Given the description of an element on the screen output the (x, y) to click on. 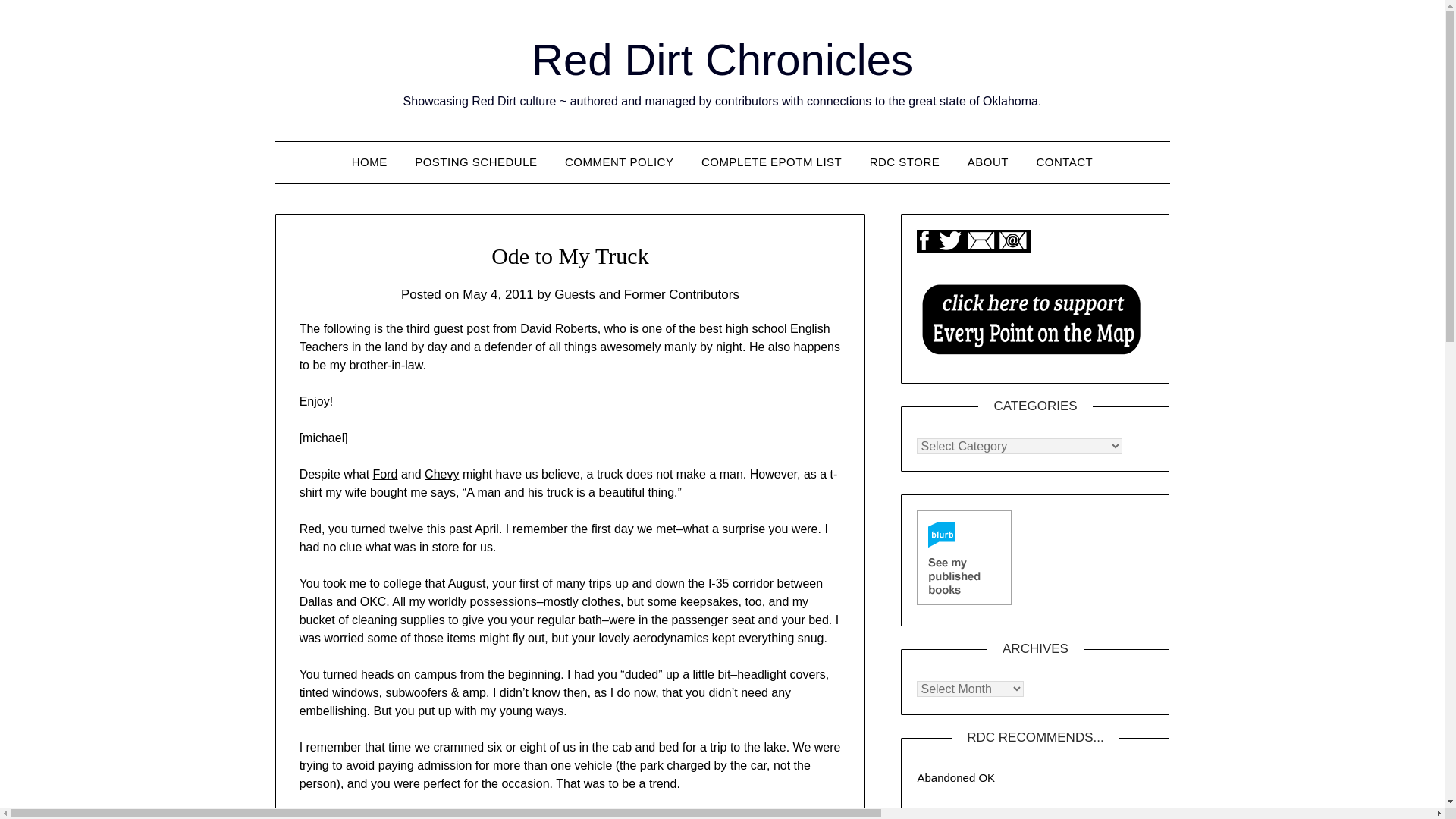
COMPLETE EPOTM LIST (770, 161)
See my published books (964, 557)
Red Dirt Chronicles (721, 59)
POSTING SCHEDULE (475, 161)
COMMENT POLICY (619, 161)
Oklahoma Markers, Fun Facts, etc. (987, 811)
HOME (368, 161)
